Given the description of an element on the screen output the (x, y) to click on. 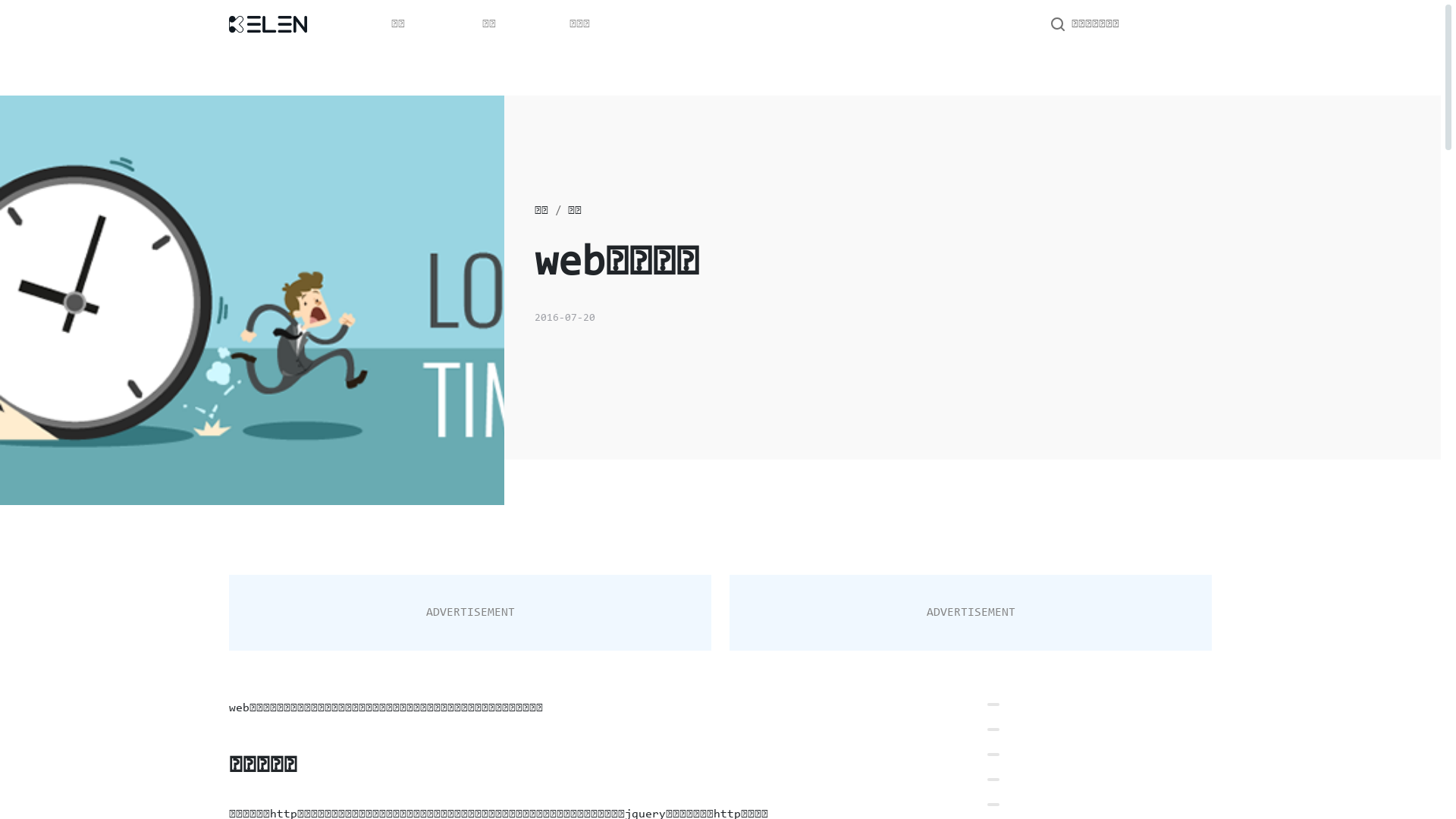
Advertisement Element type: hover (970, 612)
Advertisement Element type: hover (470, 612)
